Given the description of an element on the screen output the (x, y) to click on. 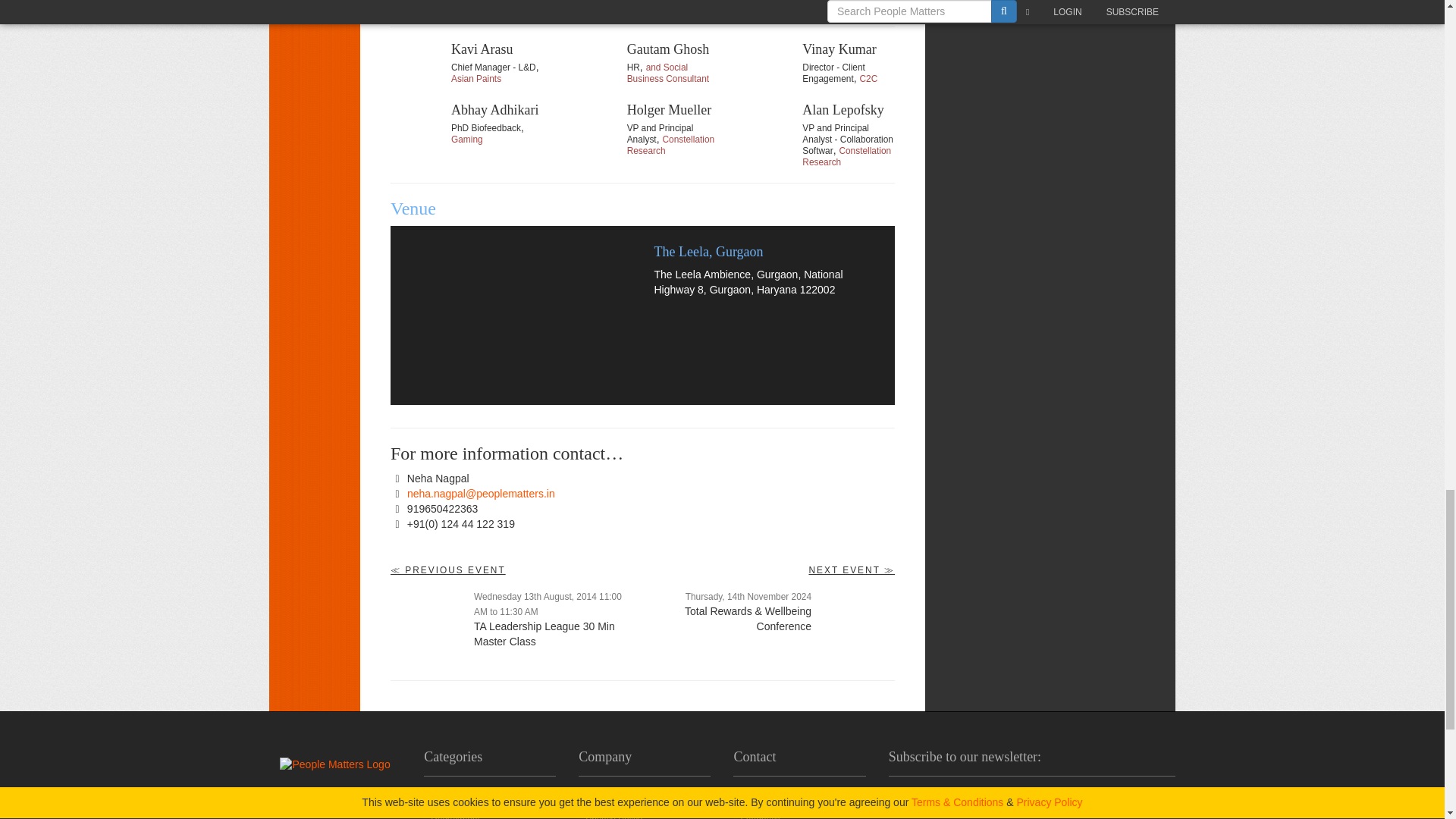
TA Leadership League 30 Min Master Class (427, 626)
Kavi Arasu (417, 68)
Holger Mueller (593, 129)
Abhay Adhikari (417, 129)
Vinay Kumar (767, 68)
Alan Lepofsky (767, 129)
Gautam Ghosh (593, 68)
